Given the description of an element on the screen output the (x, y) to click on. 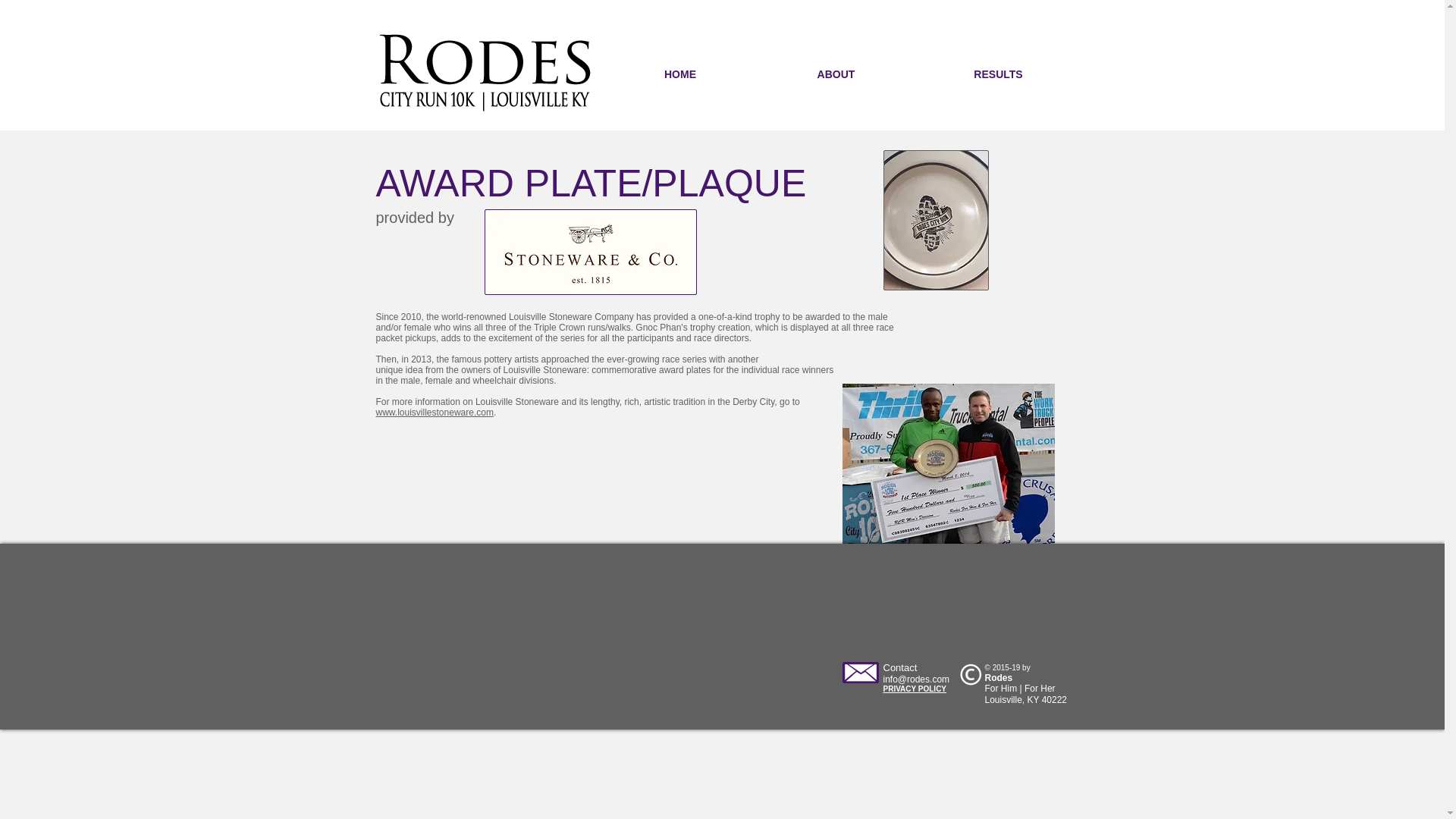
HOME (680, 74)
www.louisvillestoneware.com (434, 412)
PRIVACY POLICY (914, 688)
ABOUT (835, 74)
RESULTS (997, 74)
